Given the description of an element on the screen output the (x, y) to click on. 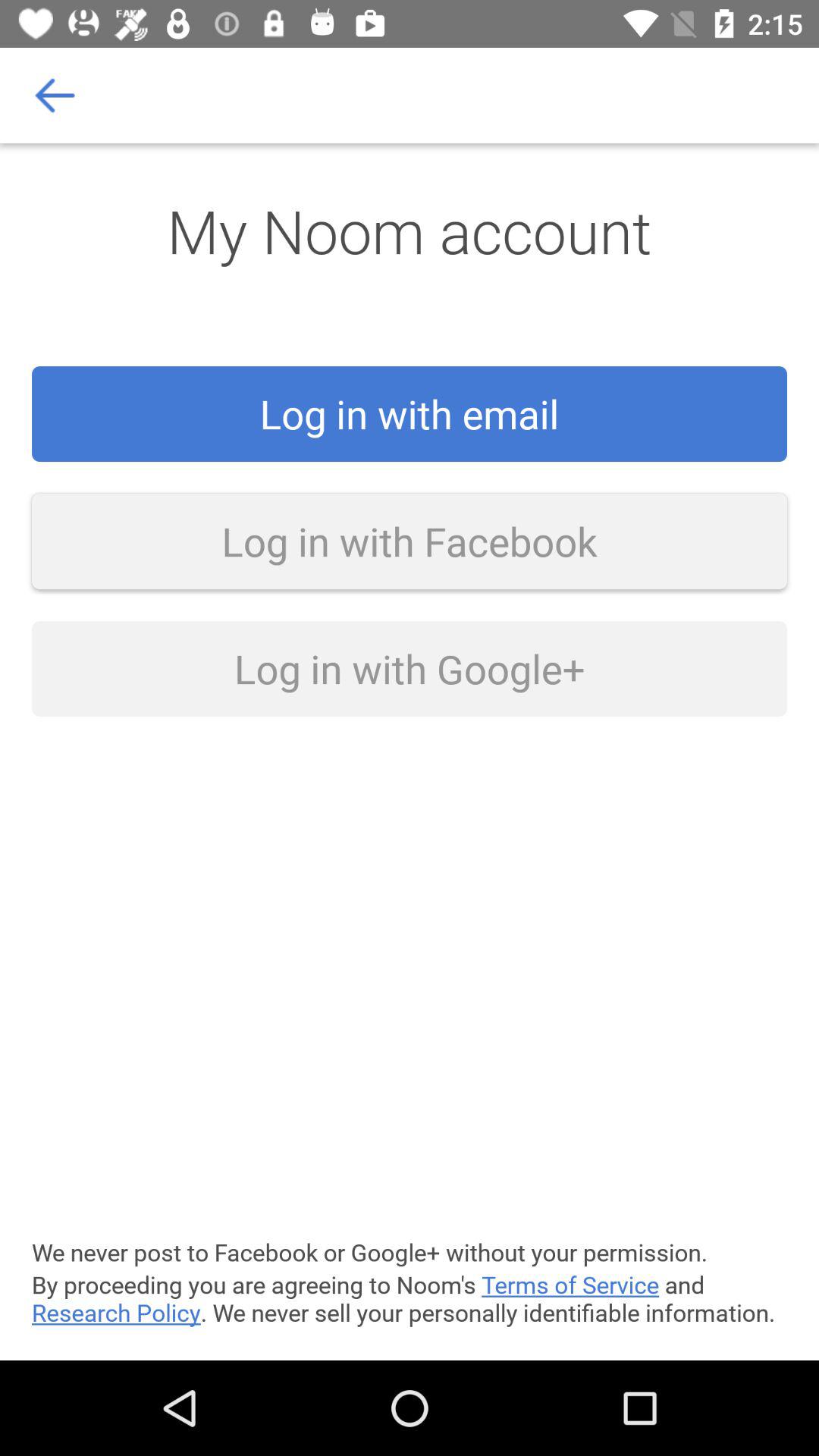
open icon below the we never post (409, 1298)
